Given the description of an element on the screen output the (x, y) to click on. 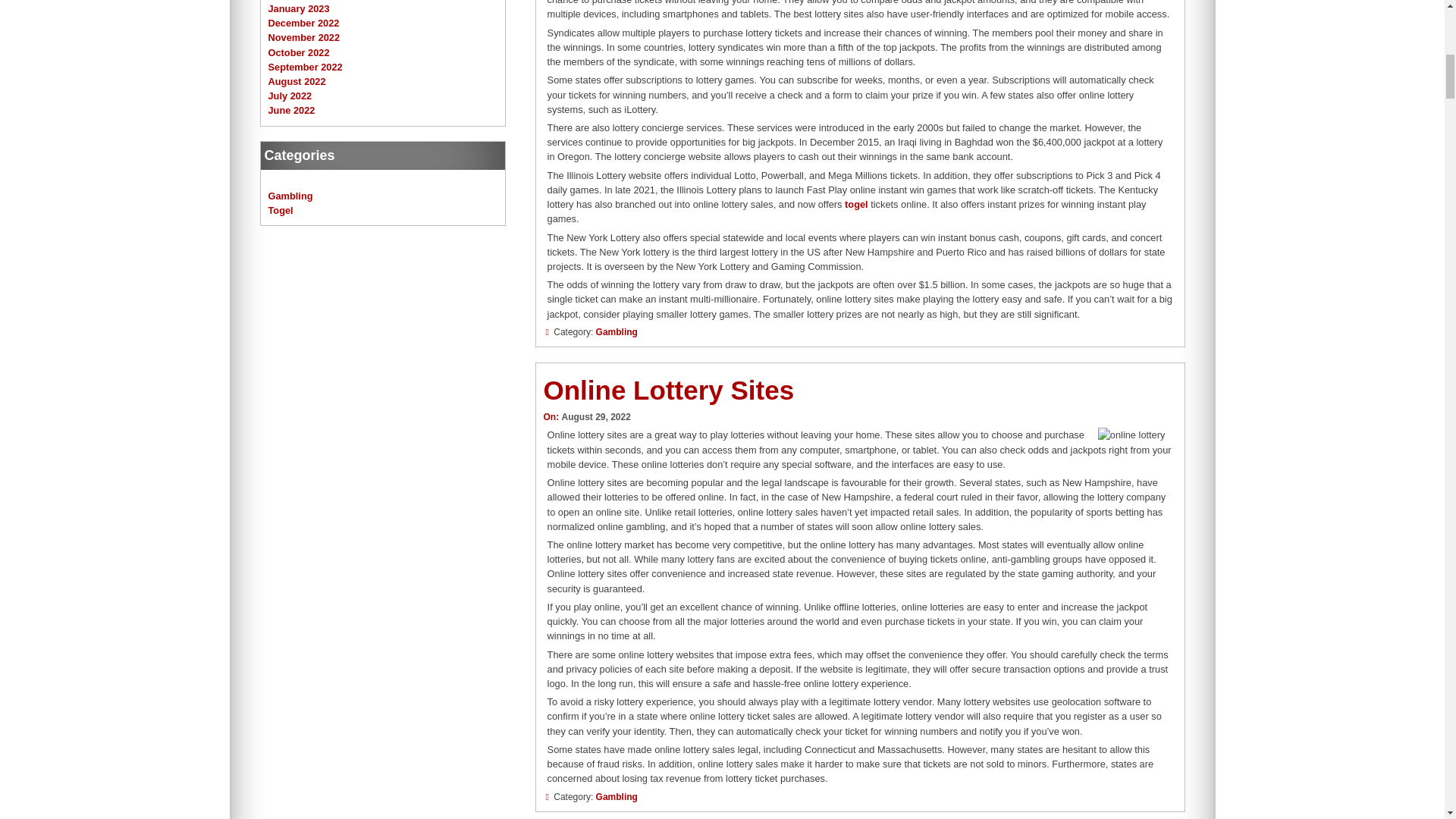
Online Lottery Sites (668, 389)
Gambling (616, 331)
Gambling (616, 796)
August 29, 2022 (595, 416)
togel (855, 204)
